Given the description of an element on the screen output the (x, y) to click on. 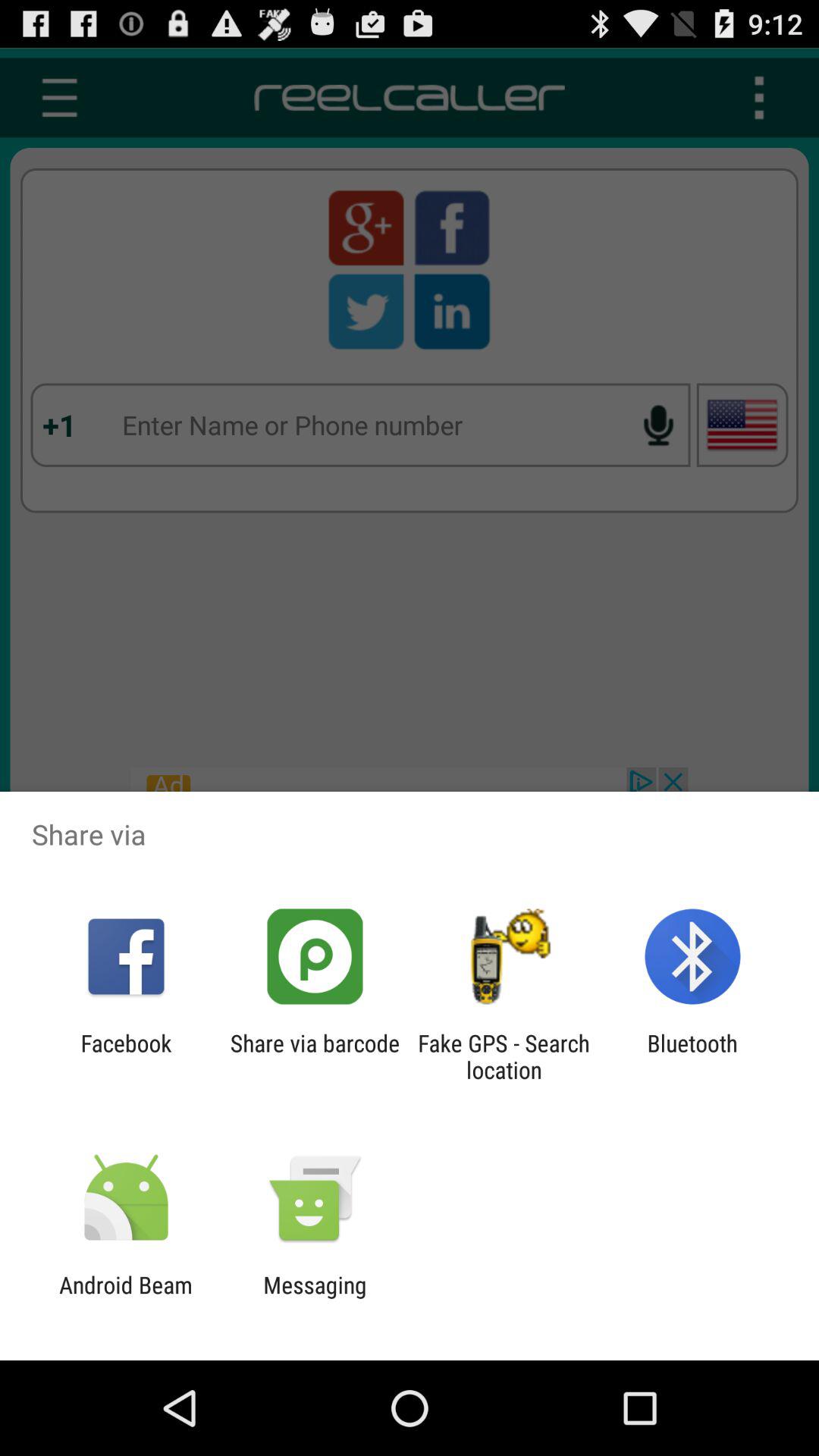
tap item to the left of messaging app (125, 1298)
